Given the description of an element on the screen output the (x, y) to click on. 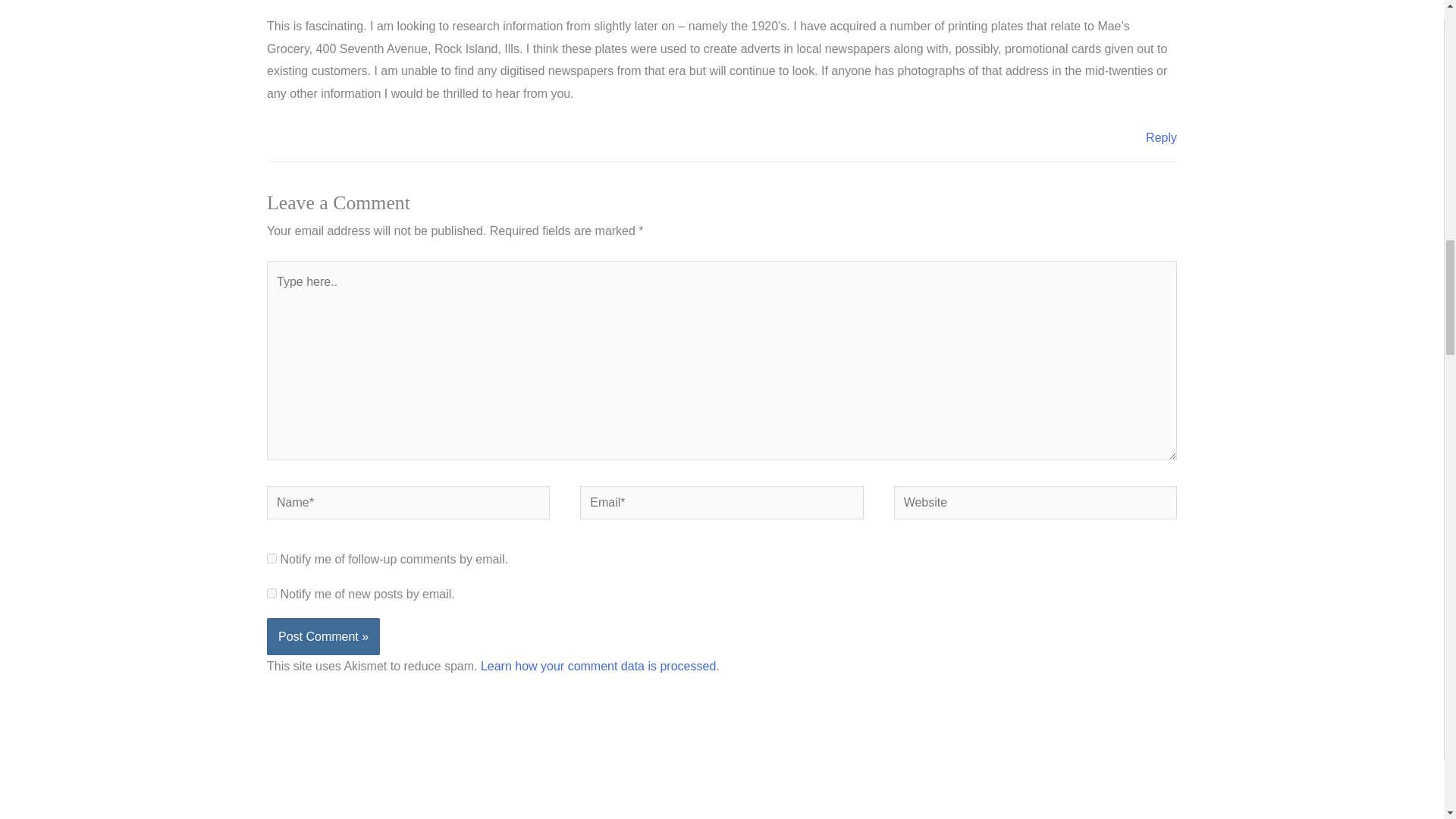
subscribe (271, 558)
subscribe (271, 593)
Reply (1160, 137)
Learn how your comment data is processed (598, 666)
